Given the description of an element on the screen output the (x, y) to click on. 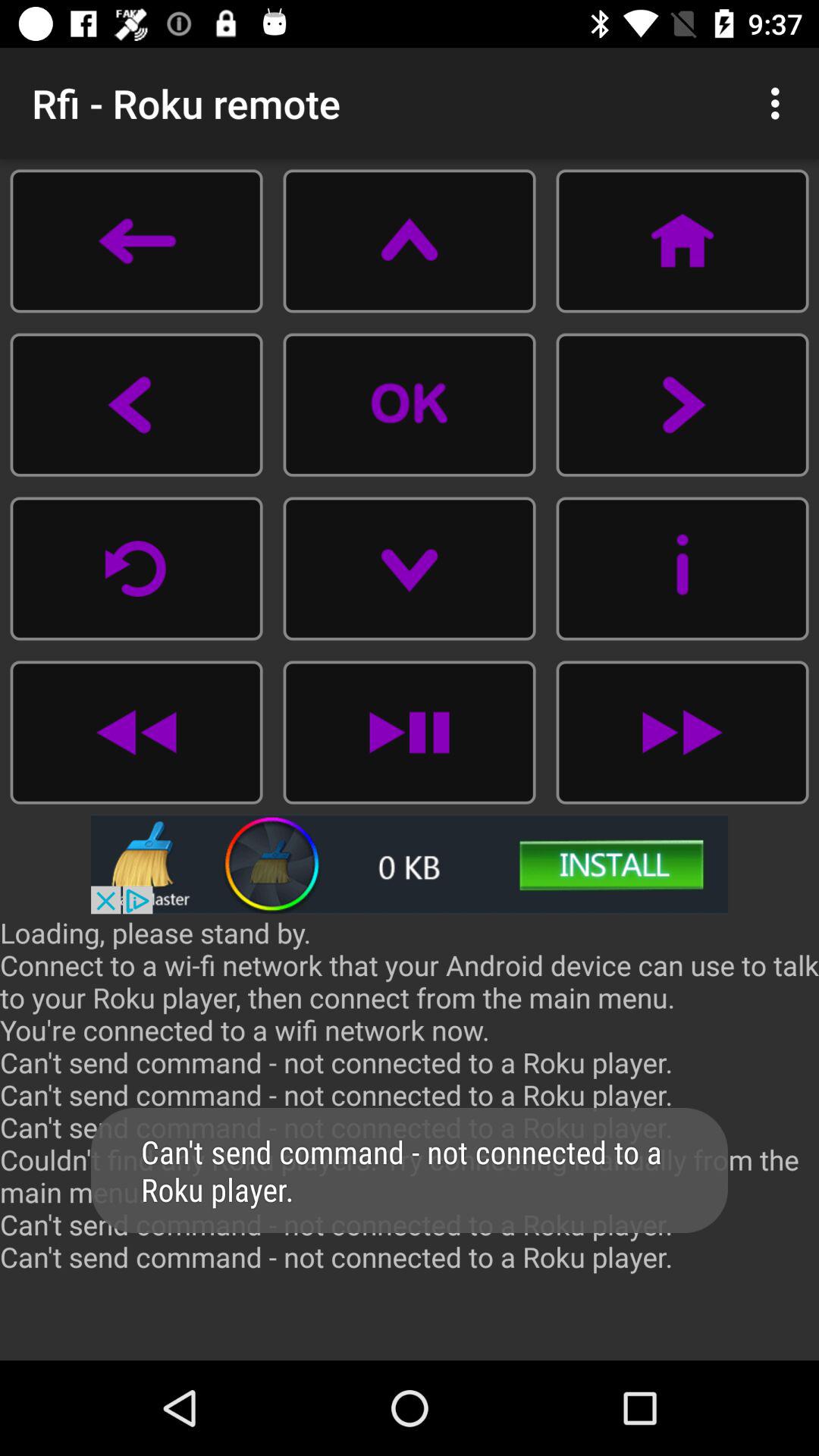
go to music play (682, 732)
